Given the description of an element on the screen output the (x, y) to click on. 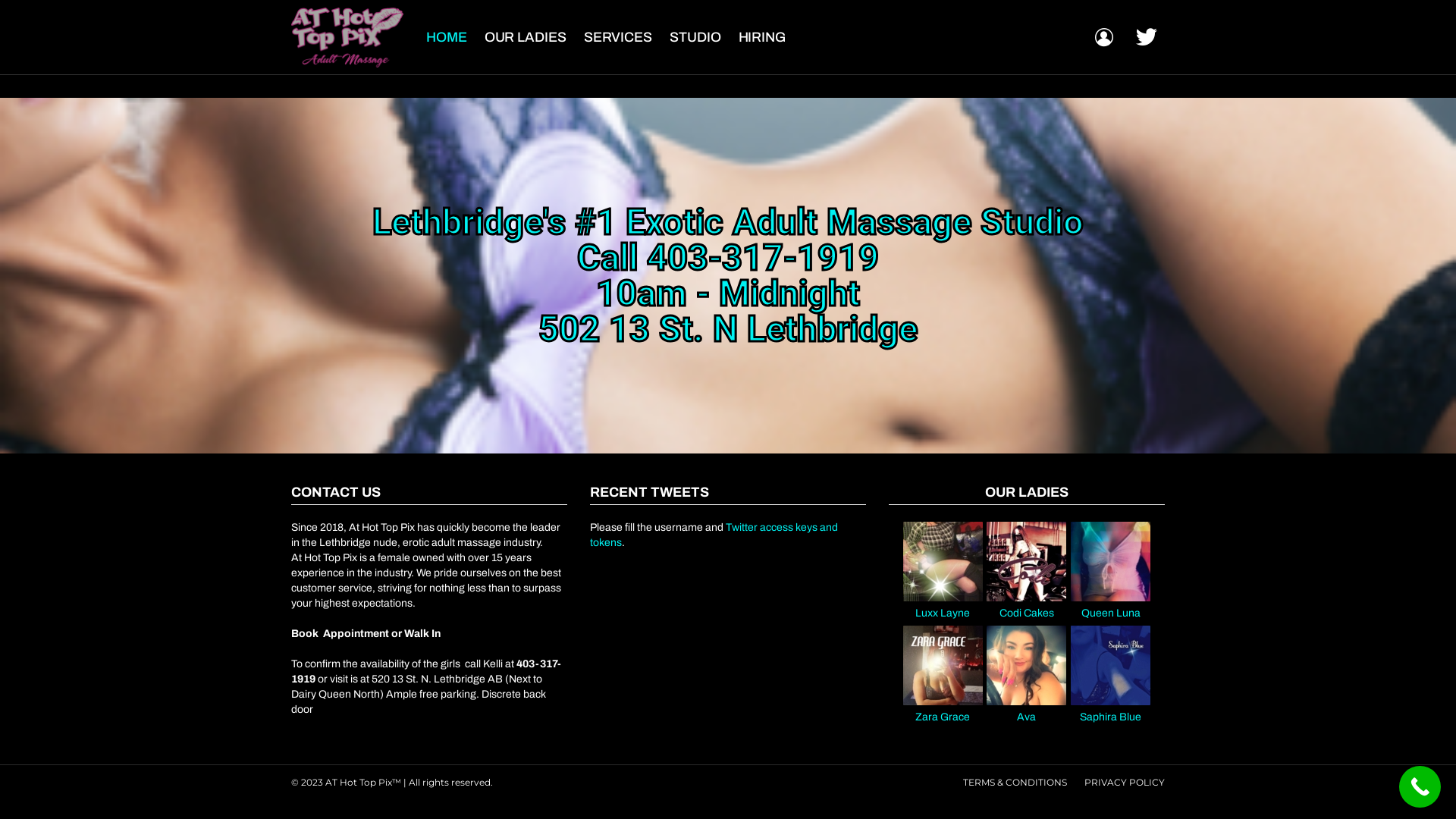
LOGIN Element type: text (1104, 36)
Saphira Blue Element type: text (1110, 710)
Codi Cakes Element type: text (1026, 606)
Zara Grace Element type: text (942, 710)
PRIVACY POLICY Element type: text (1124, 781)
Luxx Layne Element type: text (942, 606)
OUR LADIES Element type: text (525, 36)
TERMS & CONDITIONS Element type: text (1014, 781)
STUDIO Element type: text (695, 36)
HIRING Element type: text (762, 36)
Twitter Element type: text (1146, 36)
Twitter access keys and tokens Element type: text (713, 534)
Queen Luna Element type: text (1110, 606)
Ava Element type: text (1026, 710)
HOME Element type: text (446, 36)
SERVICES Element type: text (617, 36)
